Given the description of an element on the screen output the (x, y) to click on. 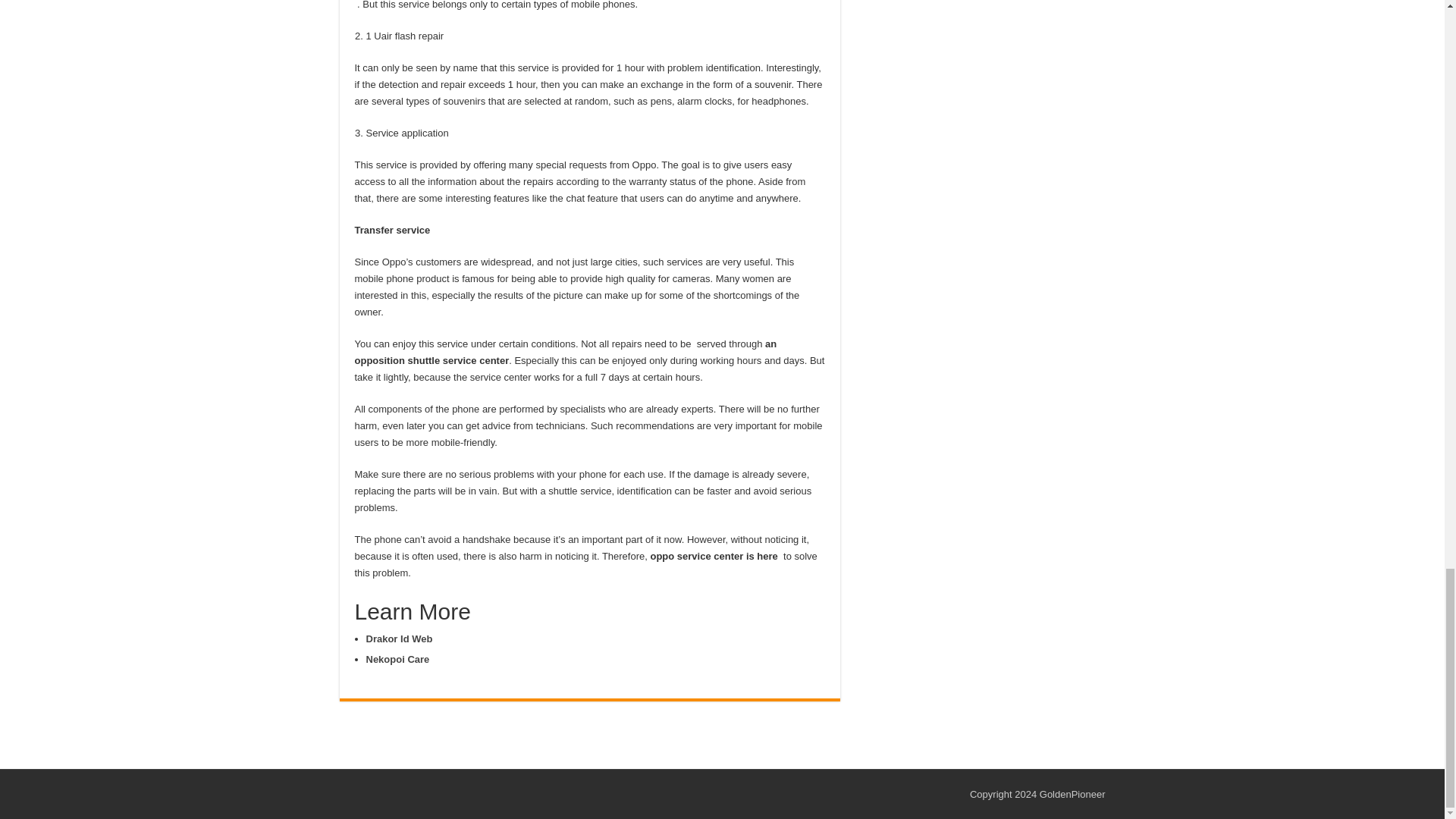
Drakor Id Web (398, 638)
GoldenPioneer (1072, 794)
Nekopoi Care (397, 659)
